Given the description of an element on the screen output the (x, y) to click on. 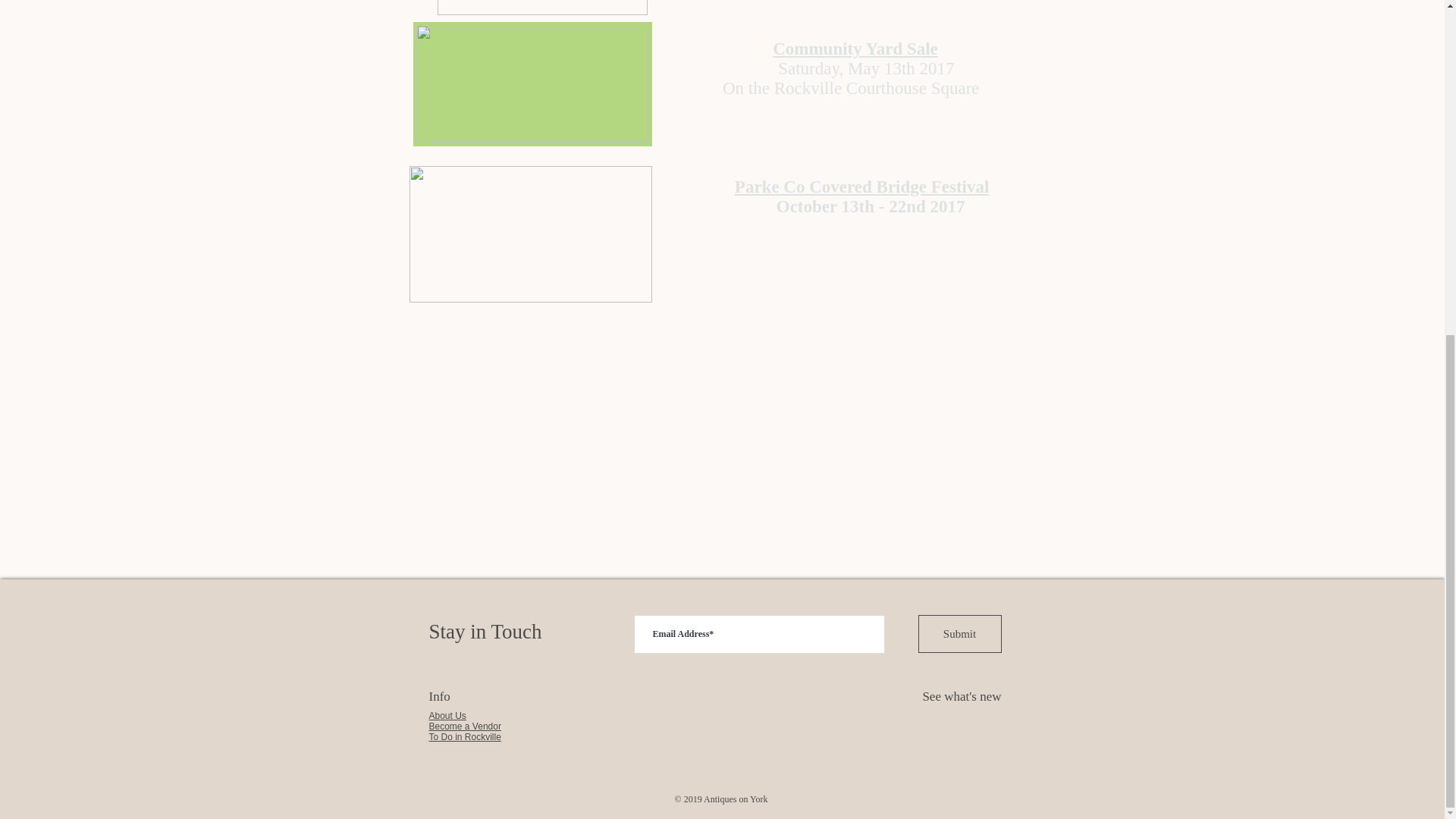
Become a Vendor (464, 726)
bridge logo.png (530, 234)
To Do in Rockville (464, 737)
About Us (447, 715)
Submit (959, 633)
